Given the description of an element on the screen output the (x, y) to click on. 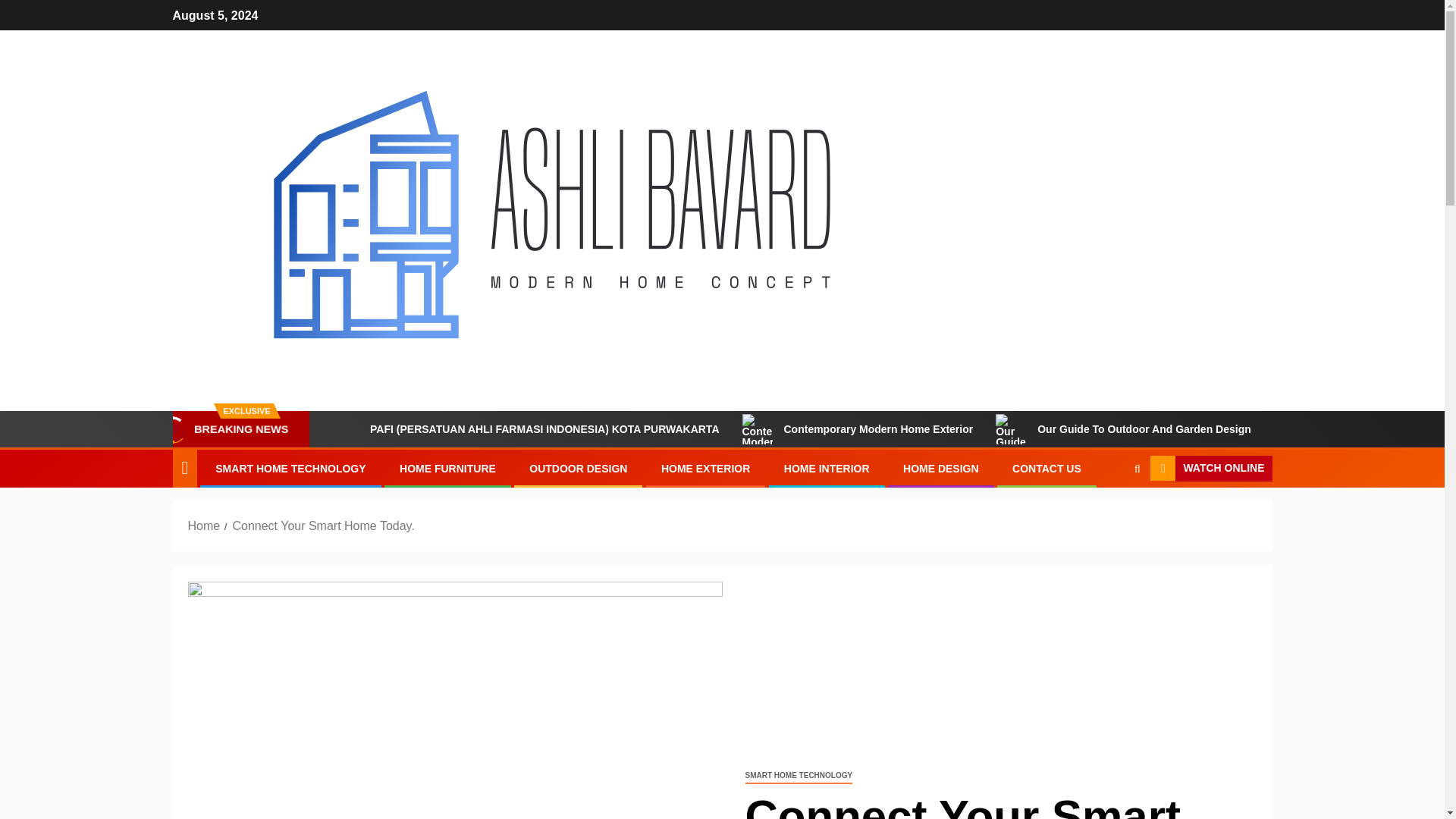
SMART HOME TECHNOLOGY (797, 775)
HOME EXTERIOR (705, 468)
HOME INTERIOR (826, 468)
Search (1107, 514)
Home (204, 525)
Contemporary Modern Home Exterior (857, 429)
OUTDOOR DESIGN (578, 468)
SMART HOME TECHNOLOGY (290, 468)
Search (1136, 468)
CONTACT US (1046, 468)
Connect Your Smart Home Today. (322, 525)
WATCH ONLINE (1210, 468)
HOME DESIGN (940, 468)
HOME FURNITURE (447, 468)
Our Guide To Outdoor And Garden Design (1123, 429)
